Given the description of an element on the screen output the (x, y) to click on. 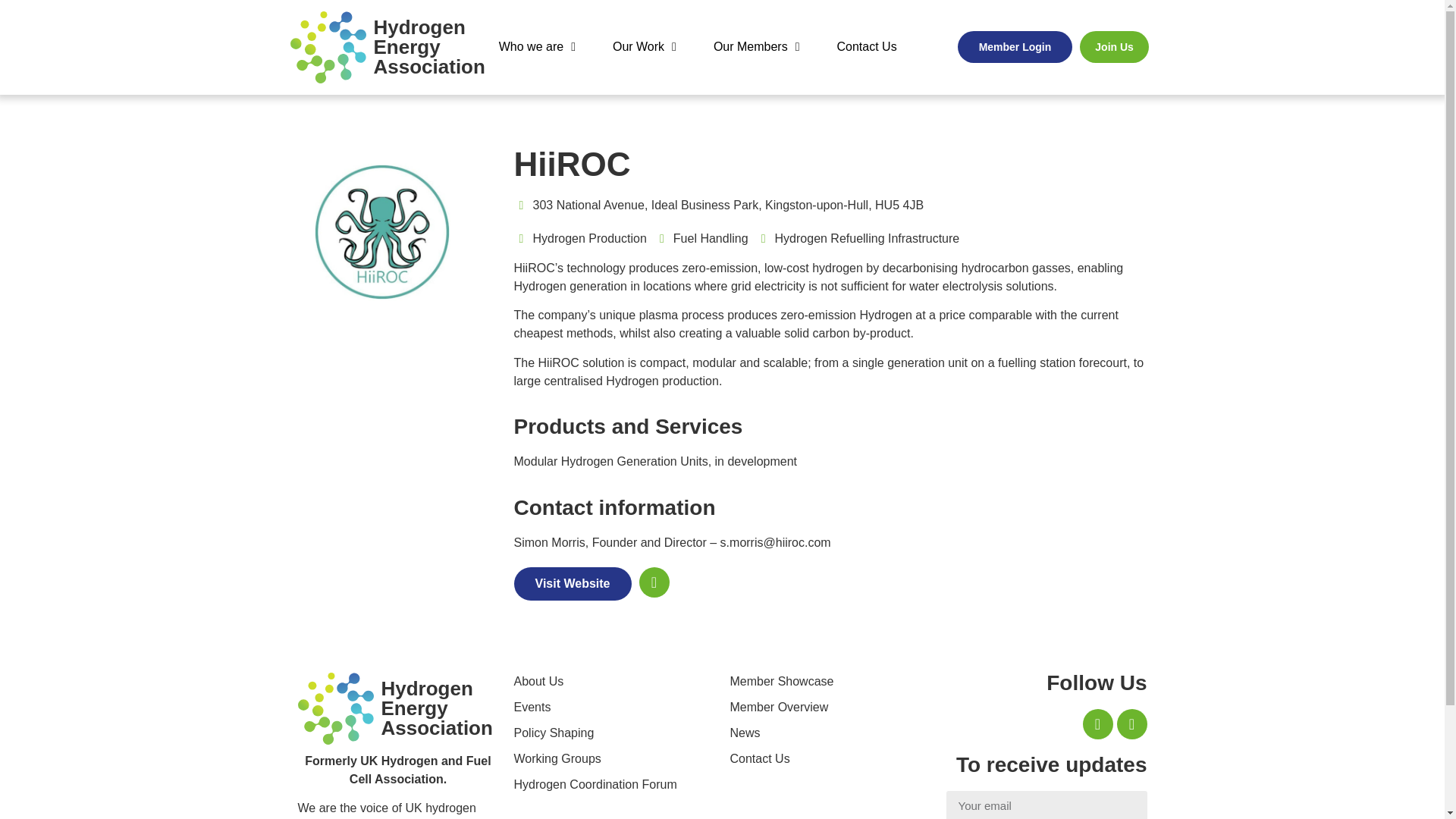
Who we are (537, 46)
Contact Us (866, 46)
Join Us (1114, 47)
Member Login (1015, 47)
Our Work (644, 46)
Our Members (428, 46)
